Given the description of an element on the screen output the (x, y) to click on. 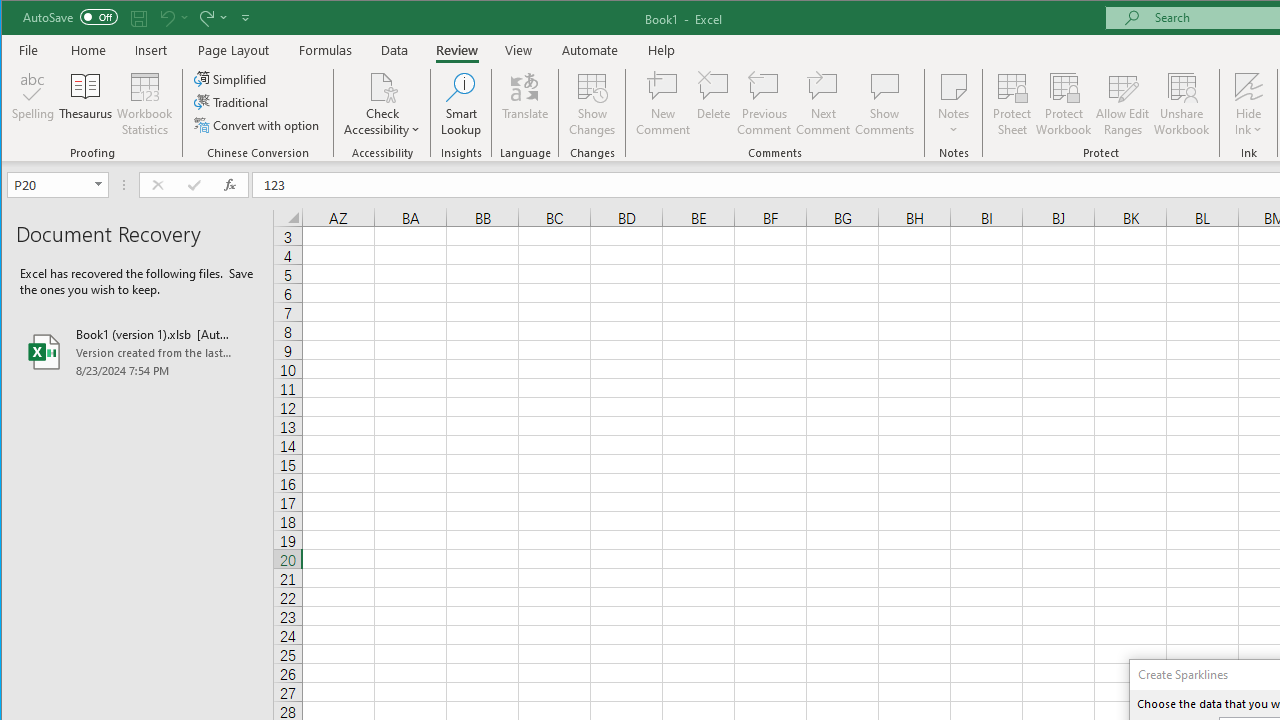
Workbook Statistics (145, 104)
Protect Sheet... (1012, 104)
Show Comments (884, 104)
File Tab (29, 49)
Delete (713, 104)
Translate (525, 104)
Simplified (231, 78)
Smart Lookup (461, 104)
Check Accessibility (381, 86)
Hide Ink (1248, 86)
Protect Workbook... (1064, 104)
Thesaurus... (86, 104)
